Given the description of an element on the screen output the (x, y) to click on. 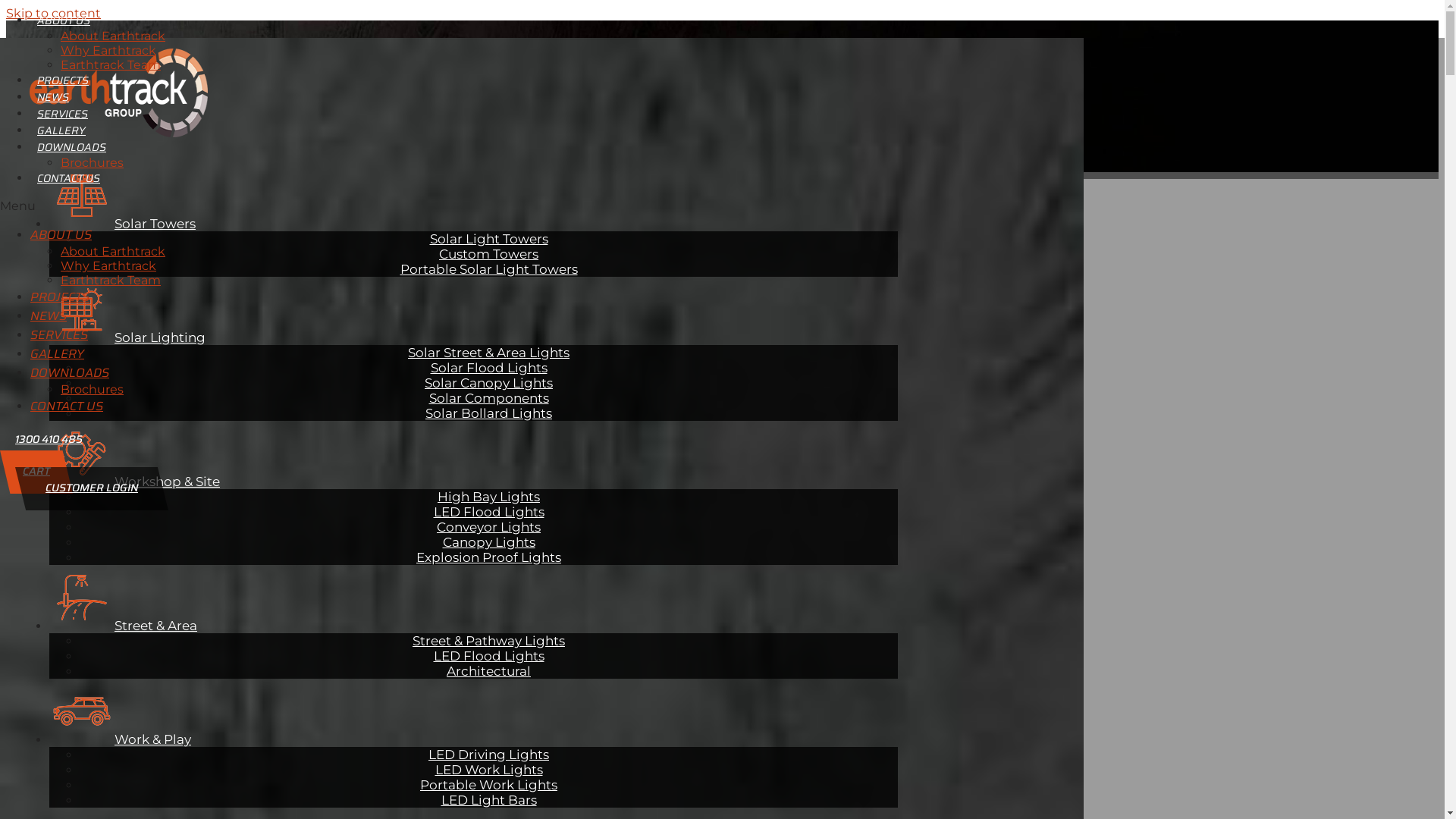
Portable Solar Light Towers Element type: text (488, 268)
About Earthtrack Element type: text (112, 251)
Workshop & Site Element type: text (134, 480)
Explosion Proof Lights Element type: text (488, 556)
Custom Towers Element type: text (488, 253)
High Bay Lights Element type: text (488, 495)
Street & Pathway Lights Element type: text (488, 639)
Work & Play Element type: text (120, 738)
Brochures Element type: text (91, 162)
NEWS Element type: text (48, 315)
Solar Light Towers Element type: text (488, 237)
LED Driving Lights Element type: text (488, 753)
SERVICES Element type: text (62, 113)
Search Element type: hover (98, 152)
Why Earthtrack Element type: text (108, 265)
Solar Components Element type: text (488, 397)
Architectural Element type: text (488, 670)
Solar Towers Element type: text (122, 222)
DOWNLOADS Element type: text (69, 372)
SERVICES Element type: text (58, 334)
Solar Street & Area Lights Element type: text (488, 351)
Solar Bollard Lights Element type: text (488, 412)
PROJECTS Element type: text (59, 296)
CONTACT US Element type: text (66, 405)
GALLERY Element type: text (61, 130)
Canopy Lights Element type: text (488, 541)
Earthtrack Team Element type: text (110, 64)
ABOUT US Element type: text (60, 234)
NEWS Element type: text (52, 96)
LED Work Lights Element type: text (488, 768)
PROJECTS Element type: text (62, 80)
Street & Area Element type: text (123, 624)
Why Earthtrack Element type: text (108, 50)
About Earthtrack Element type: text (112, 35)
CONTACT US Element type: text (68, 177)
Earthtrack Team Element type: text (110, 280)
LED Flood Lights Element type: text (489, 654)
Solar Flood Lights Element type: text (489, 366)
Conveyor Lights Element type: text (488, 526)
LED Flood Lights Element type: text (489, 510)
1300 410 485 Element type: text (48, 438)
Portable Work Lights Element type: text (488, 783)
ELION SOLAR STREET LIGHT TOWER
Click here to learn more Element type: text (722, 212)
Brochures Element type: text (91, 389)
CART Element type: text (36, 471)
ABOUT US Element type: text (63, 20)
CUSTOMER LOGIN Element type: text (91, 488)
GALLERY Element type: text (57, 353)
DOWNLOADS Element type: text (71, 146)
Solar Lighting Element type: text (127, 336)
Solar Canopy Lights Element type: text (488, 381)
Skip to content Element type: text (53, 13)
